Given the description of an element on the screen output the (x, y) to click on. 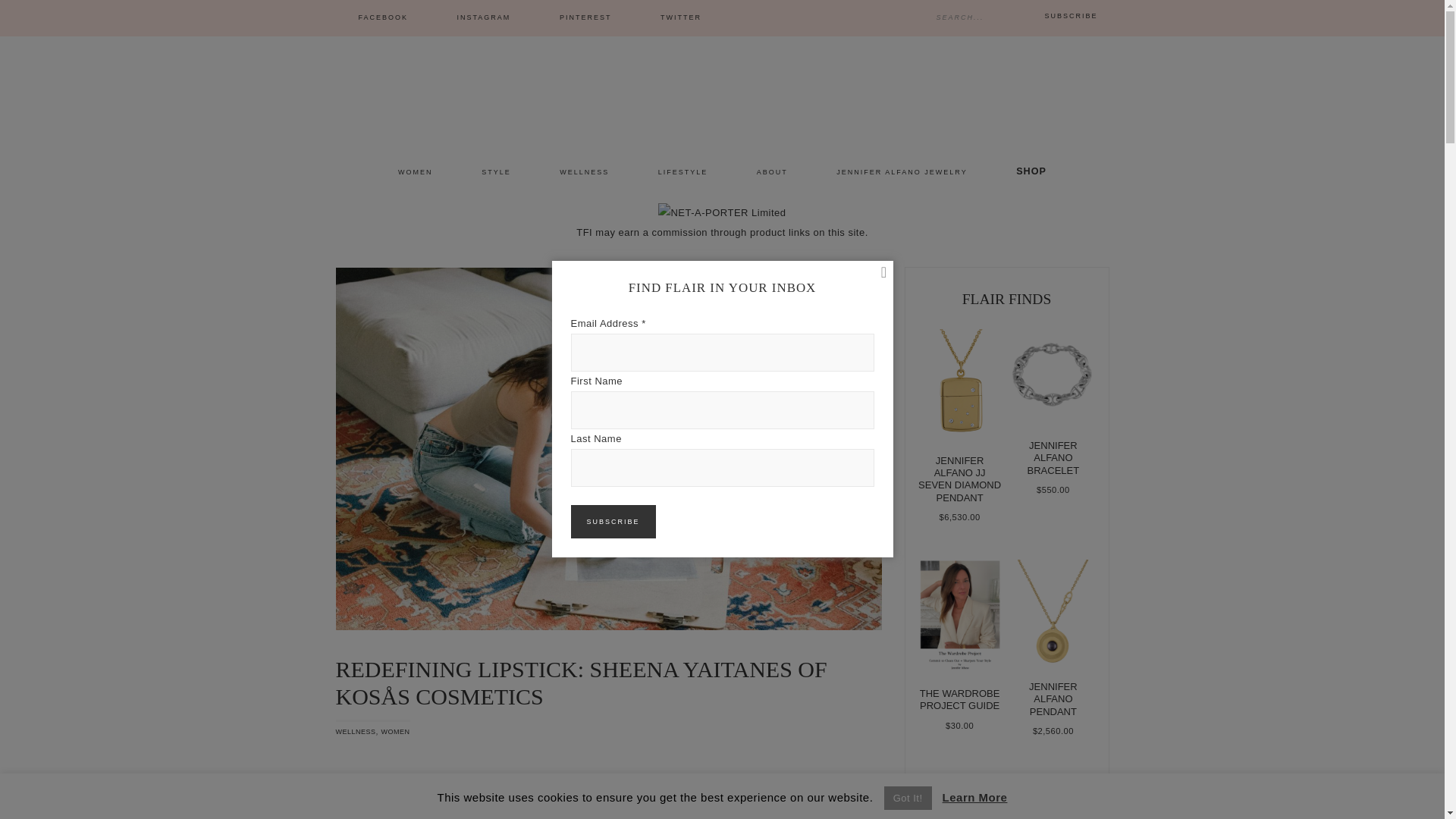
THE FLAIR INDEX (722, 90)
PINTEREST (585, 18)
JENNIFER ALFANO JEWELRY (901, 172)
LIFESTYLE (682, 172)
SHOP (1030, 171)
ABOUT (771, 172)
WOMEN (415, 172)
WELLNESS (354, 731)
WELLNESS (584, 172)
INSTAGRAM (483, 18)
STYLE (496, 172)
SUBSCRIBE (1070, 15)
FACEBOOK (382, 18)
WOMEN (395, 731)
